Given the description of an element on the screen output the (x, y) to click on. 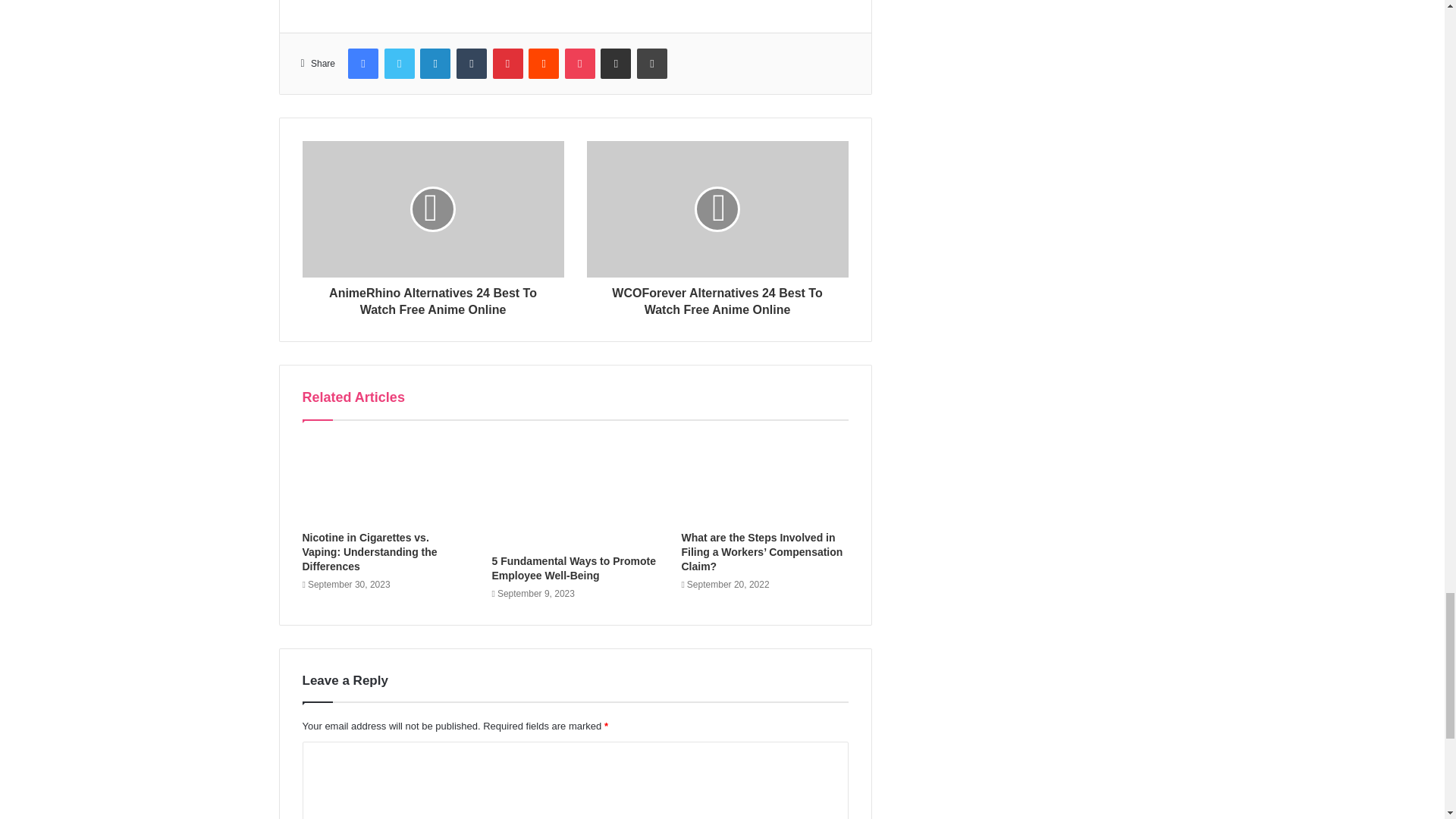
Facebook (362, 63)
LinkedIn (434, 63)
Pinterest (507, 63)
Reddit (543, 63)
Twitter (399, 63)
Tumblr (471, 63)
Pocket (579, 63)
